Given the description of an element on the screen output the (x, y) to click on. 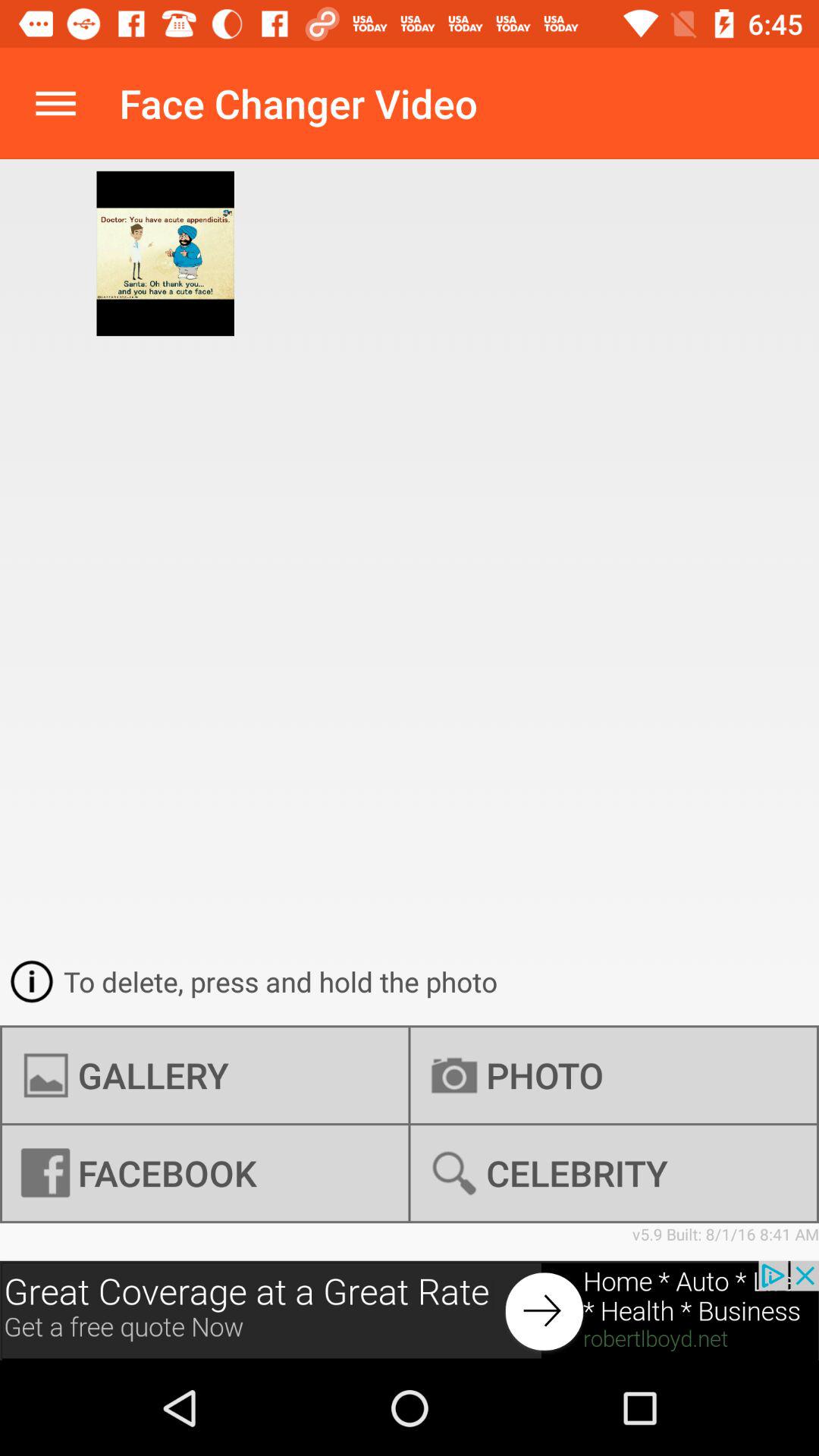
open the icon below to delete press (205, 1075)
